Given the description of an element on the screen output the (x, y) to click on. 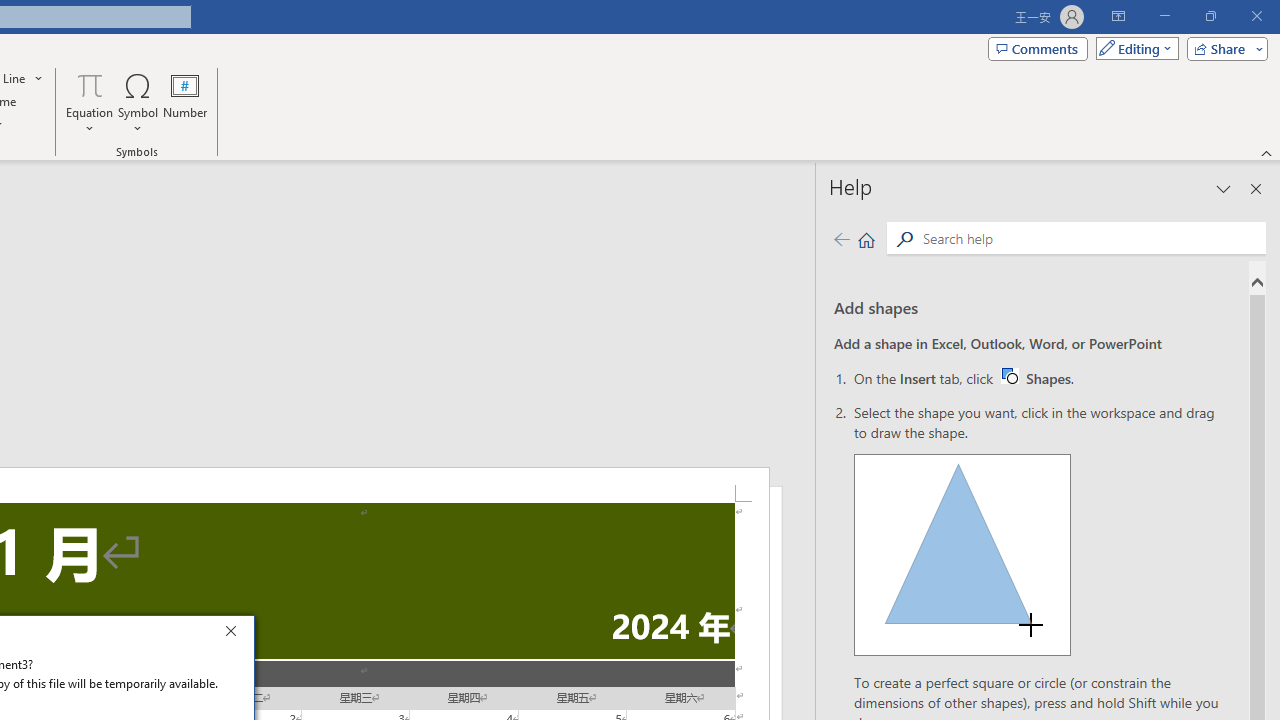
Equation (90, 84)
Previous page (841, 238)
Equation (90, 102)
Number... (1036, 377)
